Given the description of an element on the screen output the (x, y) to click on. 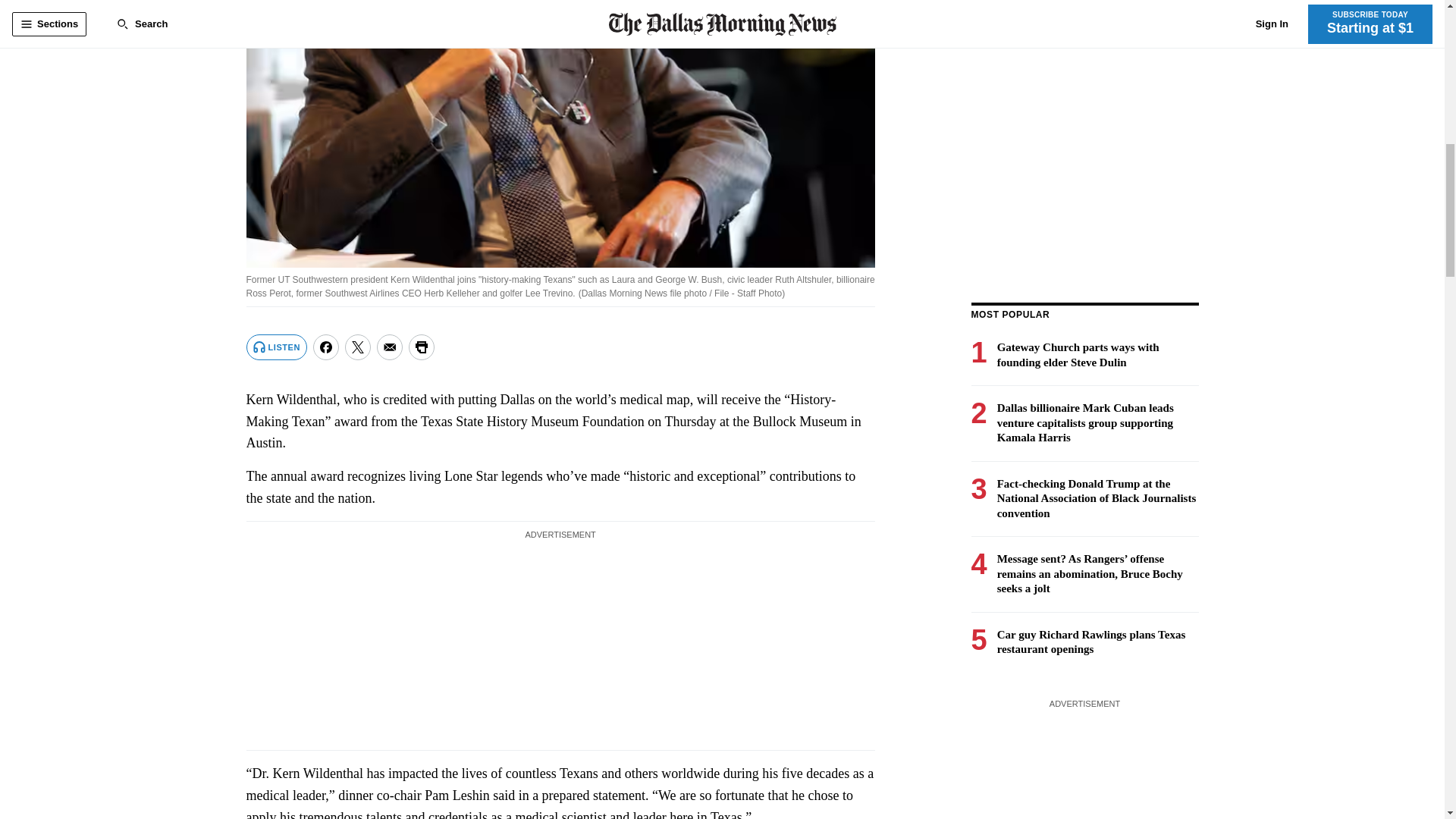
Print (421, 347)
Share on Facebook (326, 347)
Share via Email (390, 347)
Share on Twitter (358, 347)
